Given the description of an element on the screen output the (x, y) to click on. 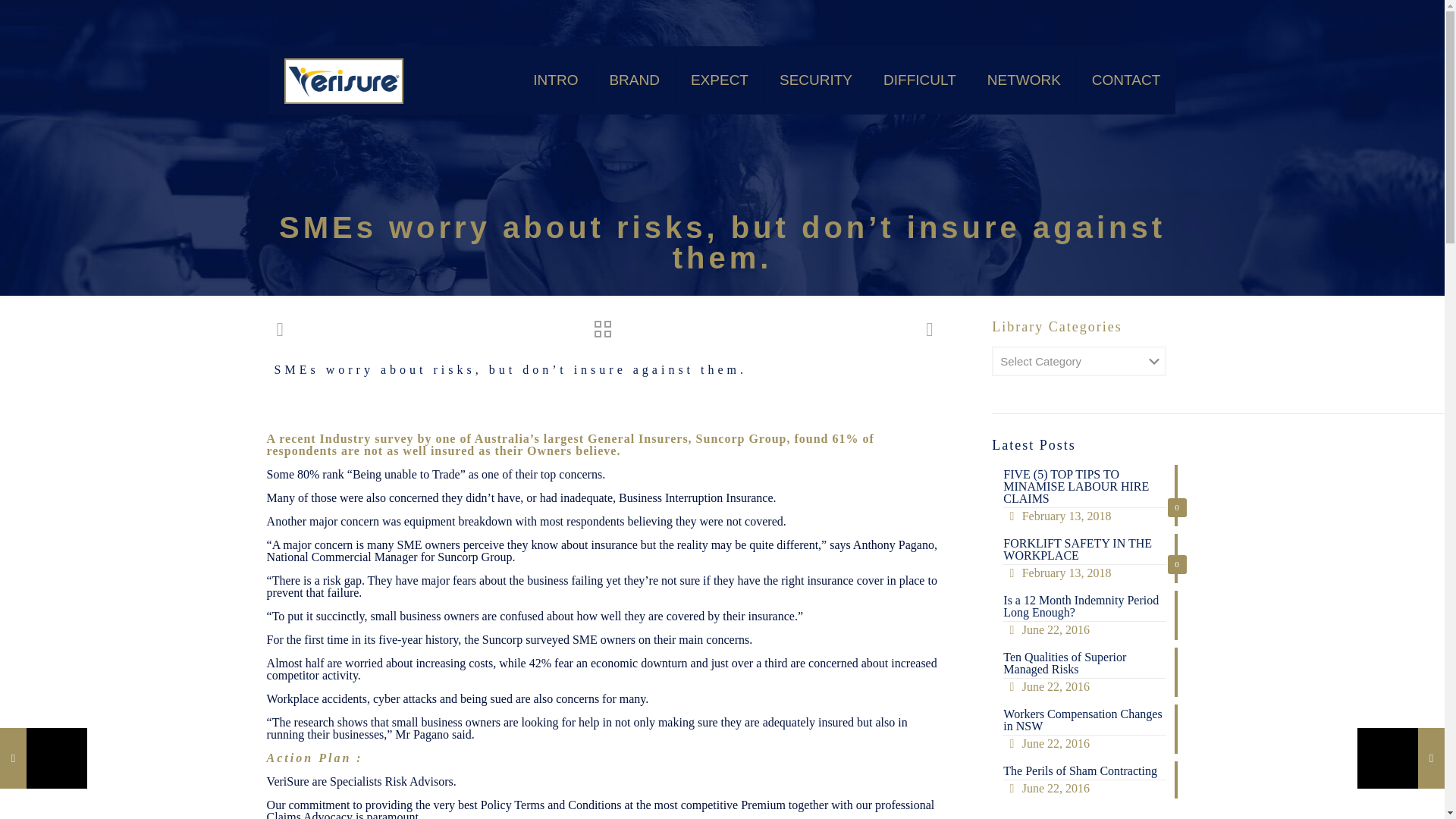
CONTACT (1083, 614)
Verisure Risk Advisors (1125, 79)
EXPECT (343, 79)
INTRO (719, 79)
SECURITY (1083, 779)
NETWORK (556, 79)
DIFFICULT (1083, 671)
BRAND (815, 79)
